Given the description of an element on the screen output the (x, y) to click on. 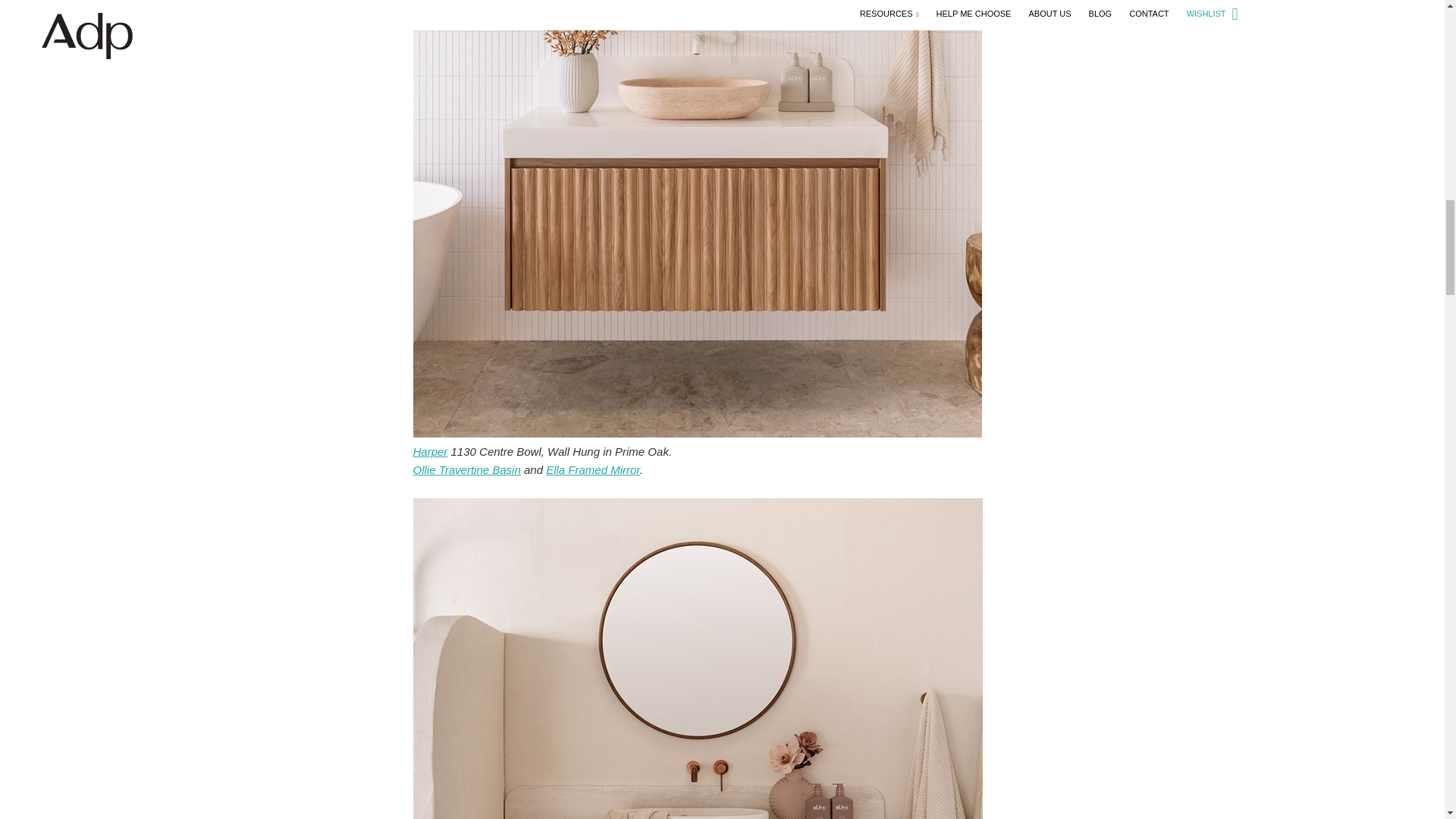
Ella (593, 469)
Harper (429, 451)
Ollie (465, 469)
